Given the description of an element on the screen output the (x, y) to click on. 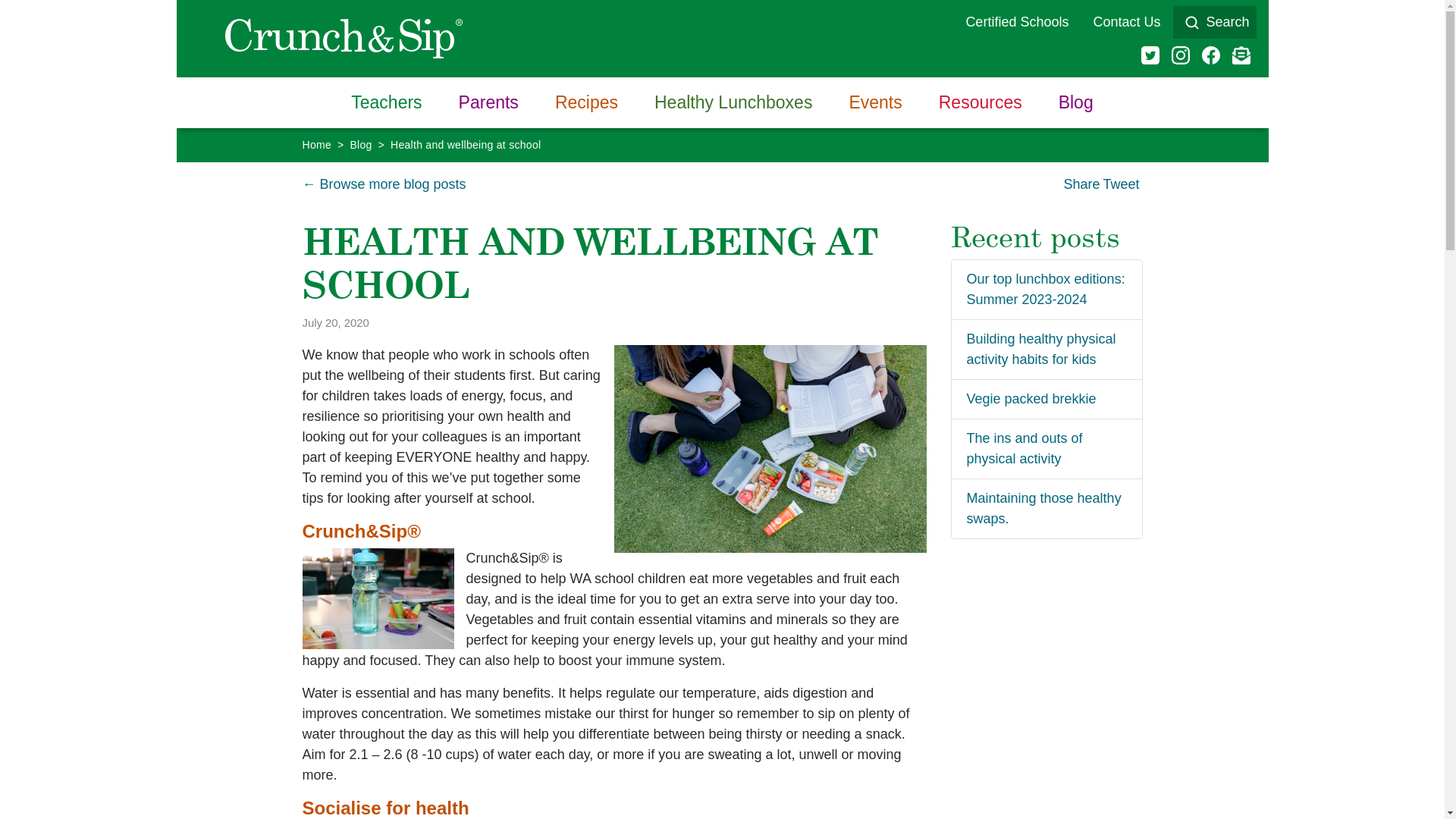
Contact Us Element type: text (1126, 22)
Blog Element type: text (1075, 102)
Healthy Lunchboxes Element type: text (733, 102)
Home Element type: text (315, 144)
Share Element type: text (1081, 184)
Our top lunchbox editions: Summer 2023-2024 Element type: text (1045, 289)
Events Element type: text (874, 102)
Vegie packed brekkie Element type: text (1030, 398)
Maintaining those healthy swaps. Element type: text (1043, 508)
Building healthy physical activity habits for kids Element type: text (1040, 349)
Tweet Element type: text (1120, 184)
Blog Element type: text (360, 144)
Teachers Element type: text (385, 102)
The ins and outs of physical activity Element type: text (1024, 448)
Parents Element type: text (488, 102)
Certified Schools Element type: text (1016, 22)
Recipes Element type: text (586, 102)
Resources Element type: text (980, 102)
